Given the description of an element on the screen output the (x, y) to click on. 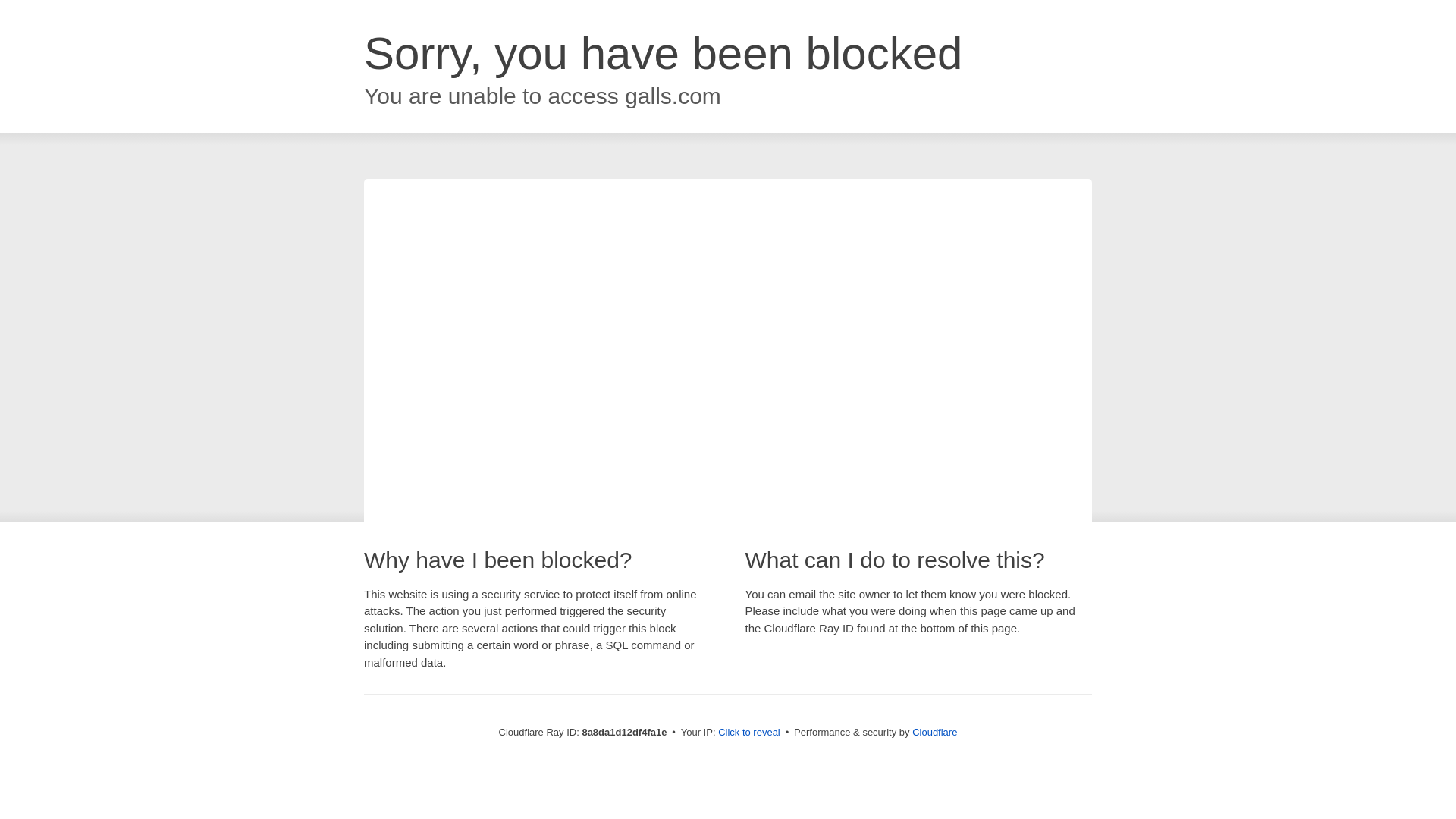
Click to reveal (748, 732)
Cloudflare (934, 731)
